Given the description of an element on the screen output the (x, y) to click on. 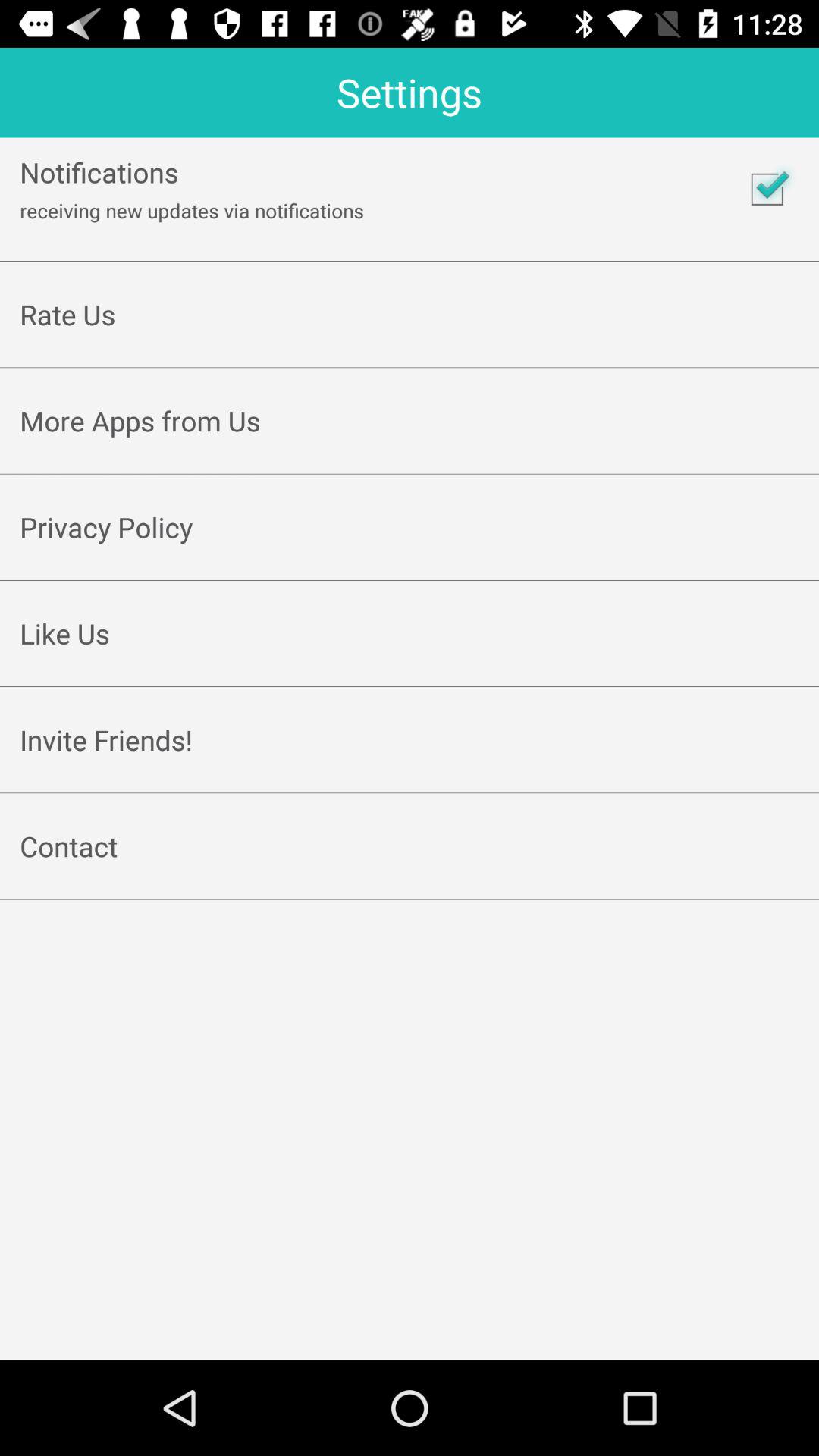
click icon next to receiving new updates (767, 189)
